Given the description of an element on the screen output the (x, y) to click on. 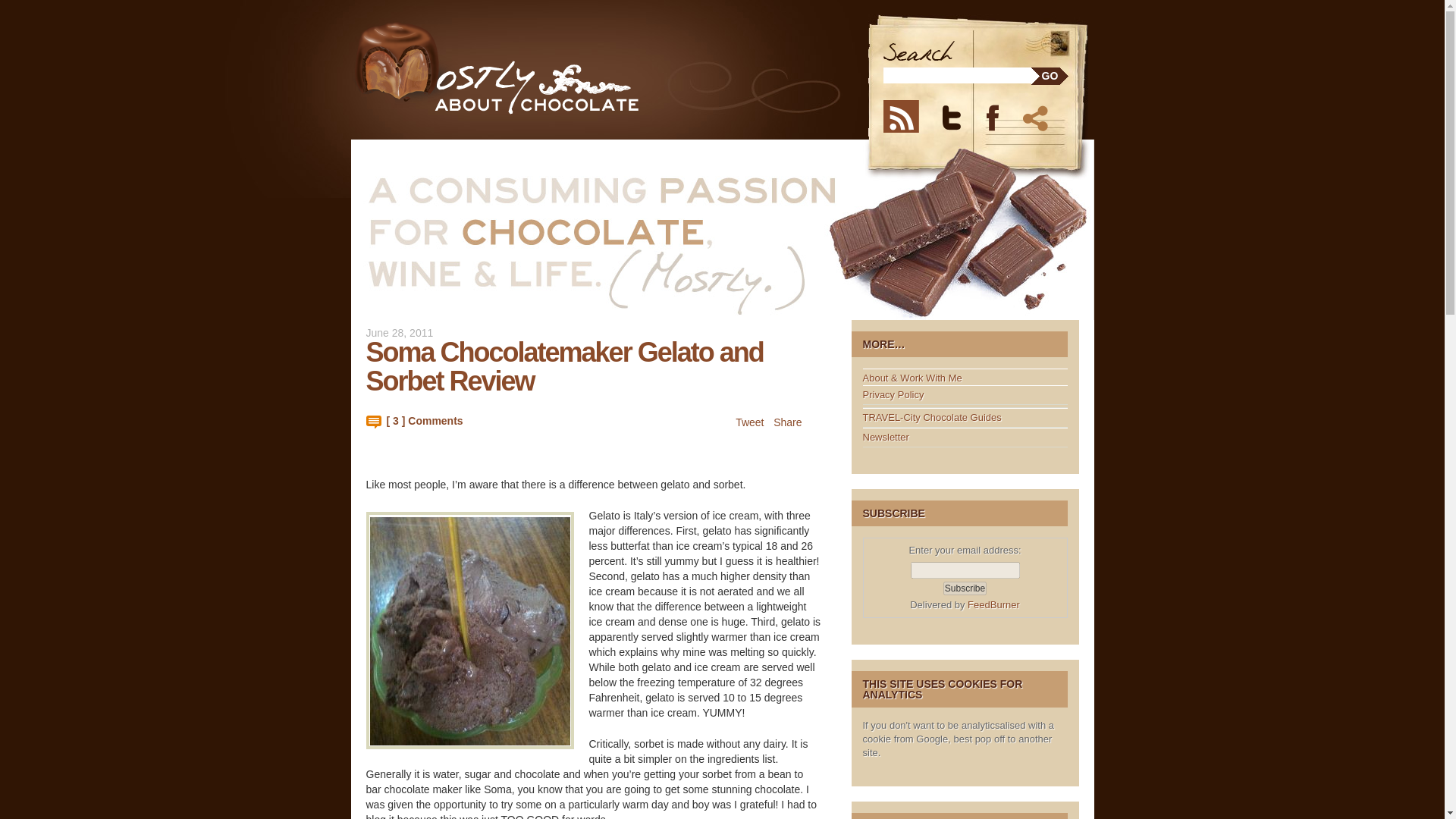
Mostly About Chocolate Blog (525, 67)
FeedBurner (994, 604)
TRAVEL-City Chocolate Guides (932, 417)
Tweet (748, 422)
Mostly About Chocolate Blog (525, 67)
Twitter (960, 115)
Subscribe (965, 588)
Newsletter (885, 437)
FaceBook (1000, 115)
Subscribe (965, 588)
